Given the description of an element on the screen output the (x, y) to click on. 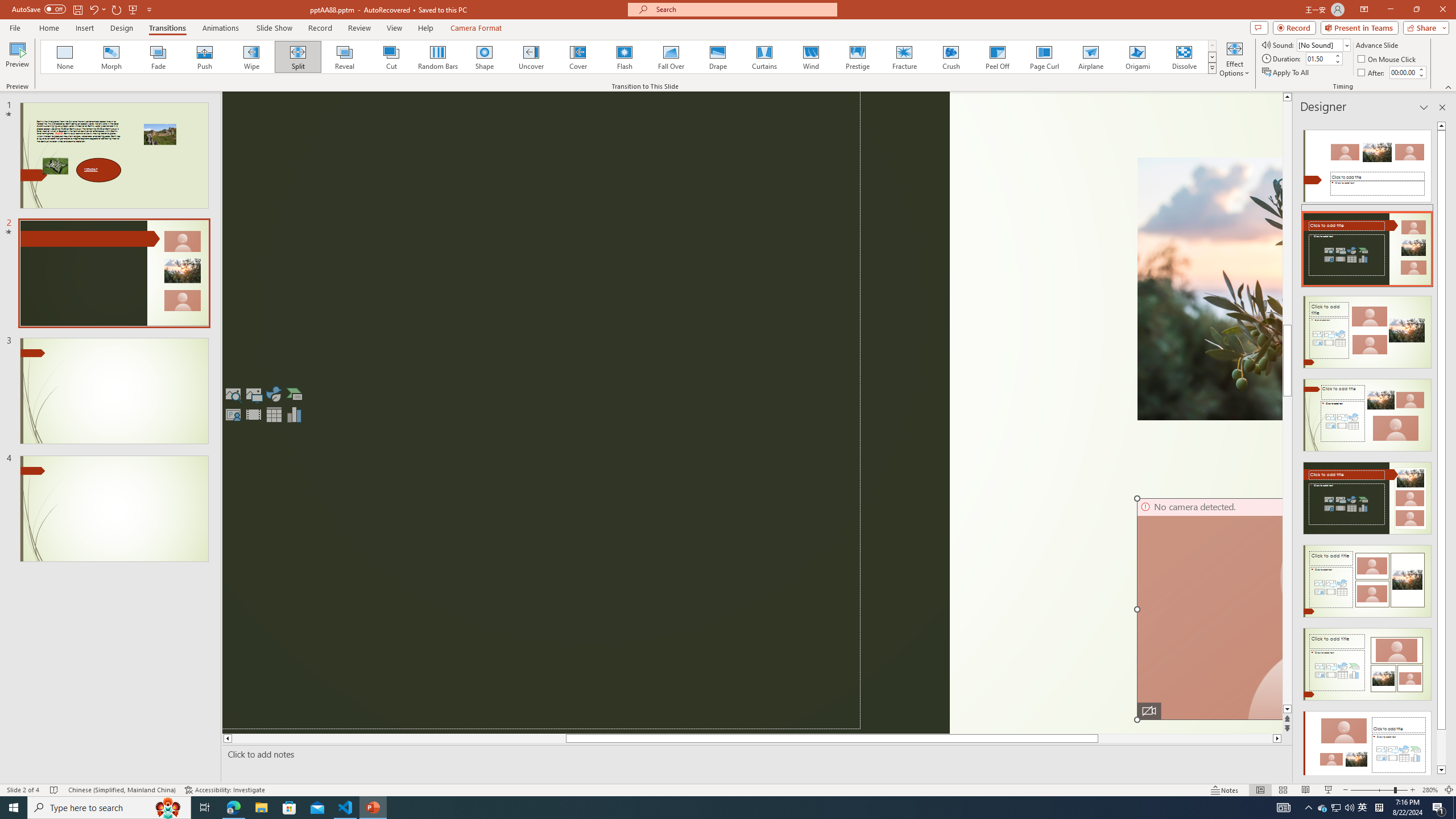
Page up (1287, 232)
Open (1345, 44)
Line up (1287, 96)
Design Idea (1366, 743)
Fade (158, 56)
Effect Options (1234, 58)
Accessibility Checker Accessibility: Investigate (224, 790)
Peel Off (997, 56)
